Given the description of an element on the screen output the (x, y) to click on. 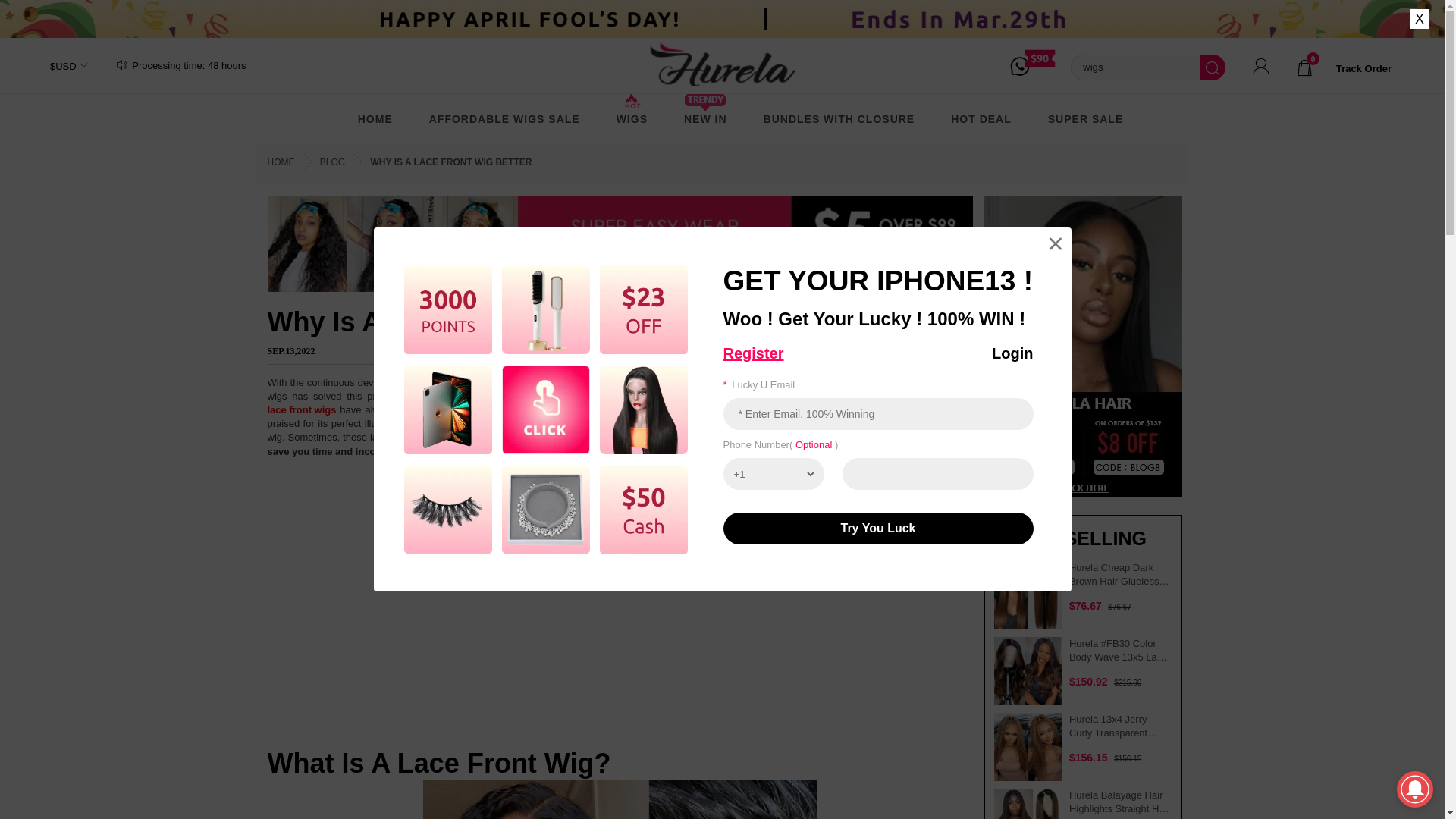
HOME (375, 118)
wigs (1134, 67)
Search (1212, 67)
track order (1363, 68)
Coupon code (1040, 65)
wigs (1134, 67)
WIGS (631, 118)
Currency (61, 66)
AFFORDABLE WIGS SALE (504, 118)
Track Order (1363, 68)
hurela hair Mall (722, 67)
Wigs (631, 118)
Lace Part Wig (504, 118)
Home (375, 118)
